Given the description of an element on the screen output the (x, y) to click on. 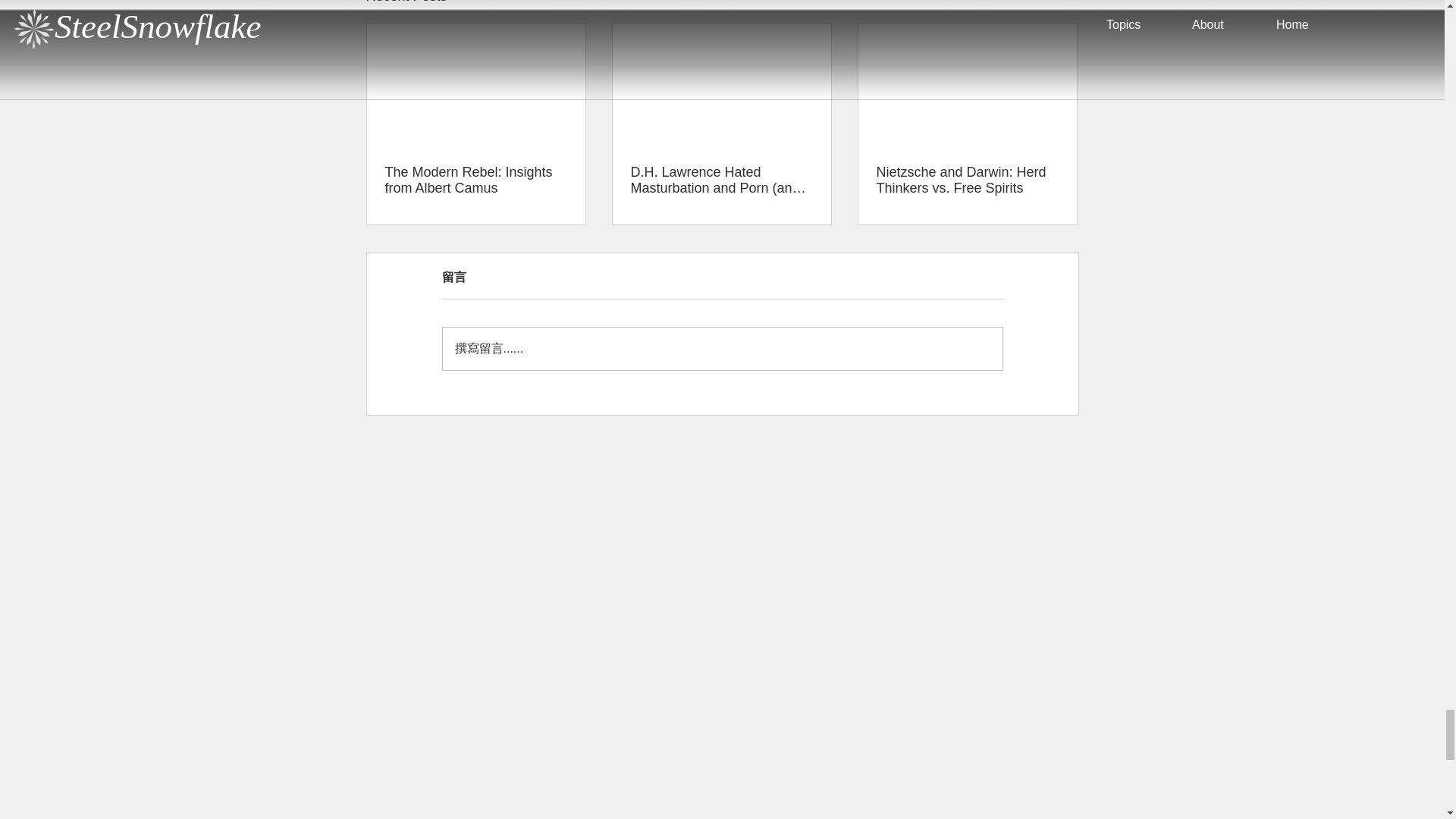
The Modern Rebel: Insights from Albert Camus (476, 180)
See All (1061, 3)
Nietzsche and Darwin: Herd Thinkers vs. Free Spirits (967, 180)
